Given the description of an element on the screen output the (x, y) to click on. 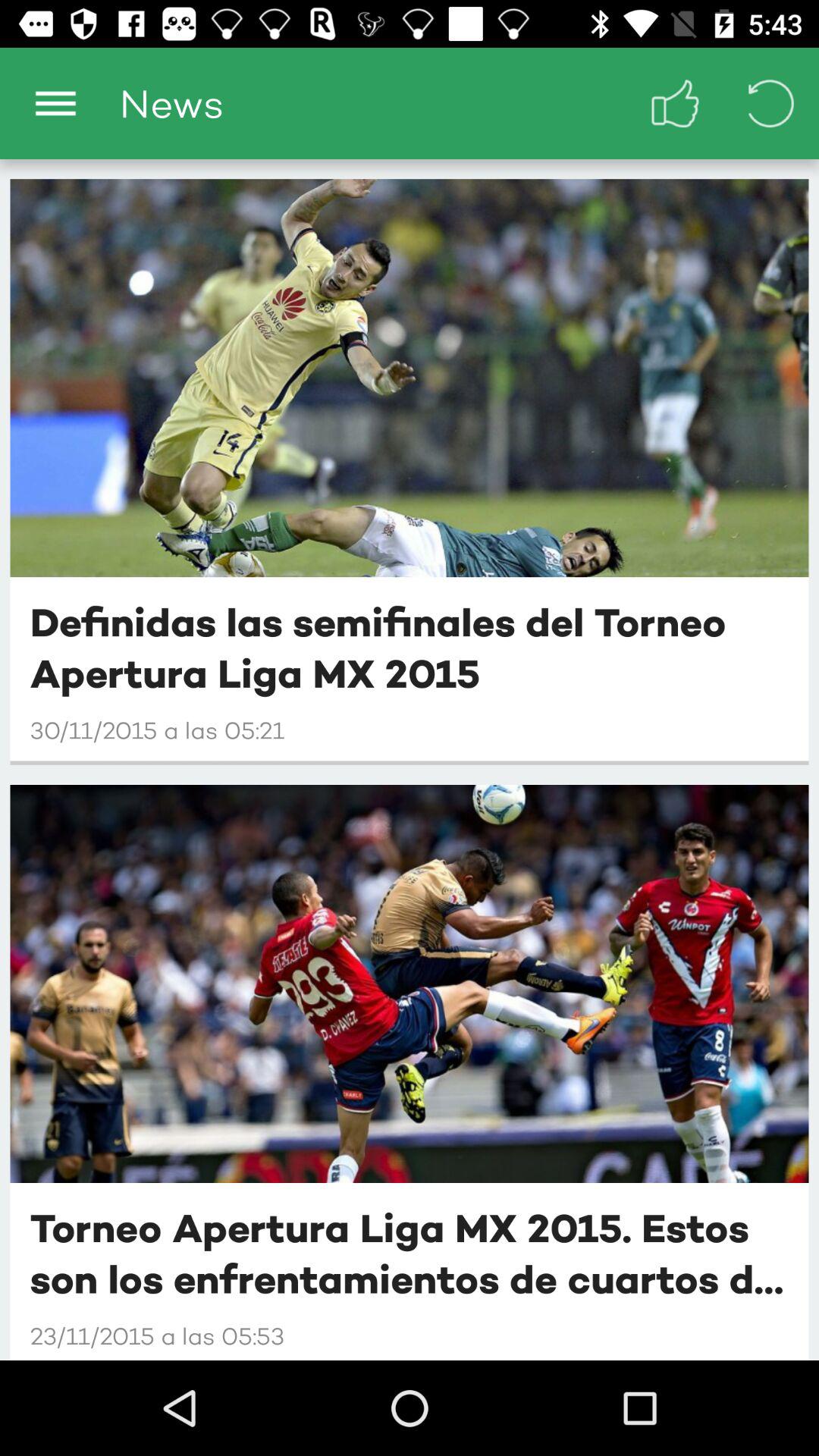
click item next to news app (675, 103)
